Given the description of an element on the screen output the (x, y) to click on. 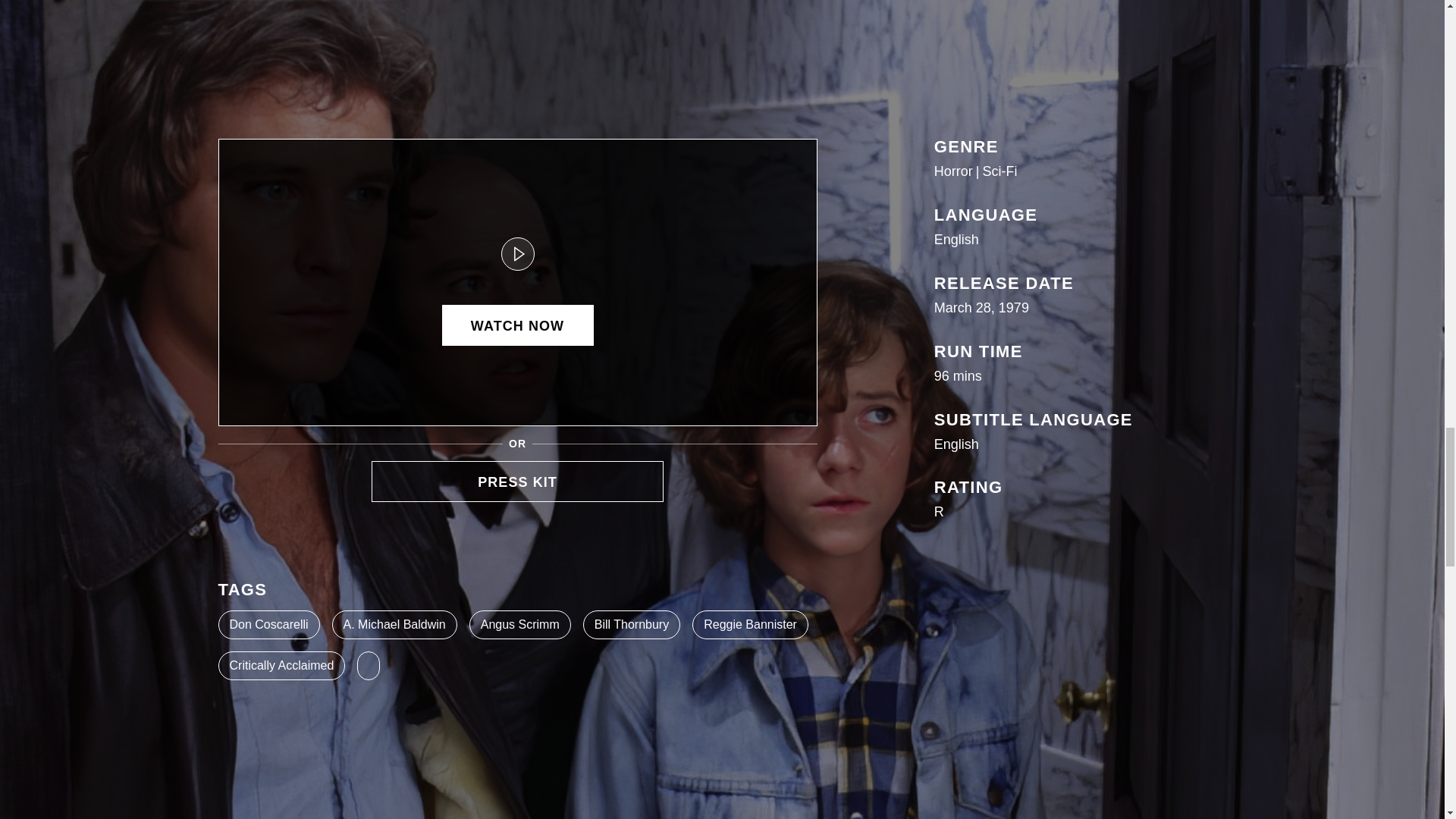
Reggie Bannister (750, 624)
Critically Acclaimed (282, 665)
Bill Thornbury (631, 624)
WATCH NOW (516, 324)
PRESS KIT (517, 481)
A. Michael Baldwin (394, 624)
Angus Scrimm (519, 624)
Don Coscarelli (269, 624)
